Given the description of an element on the screen output the (x, y) to click on. 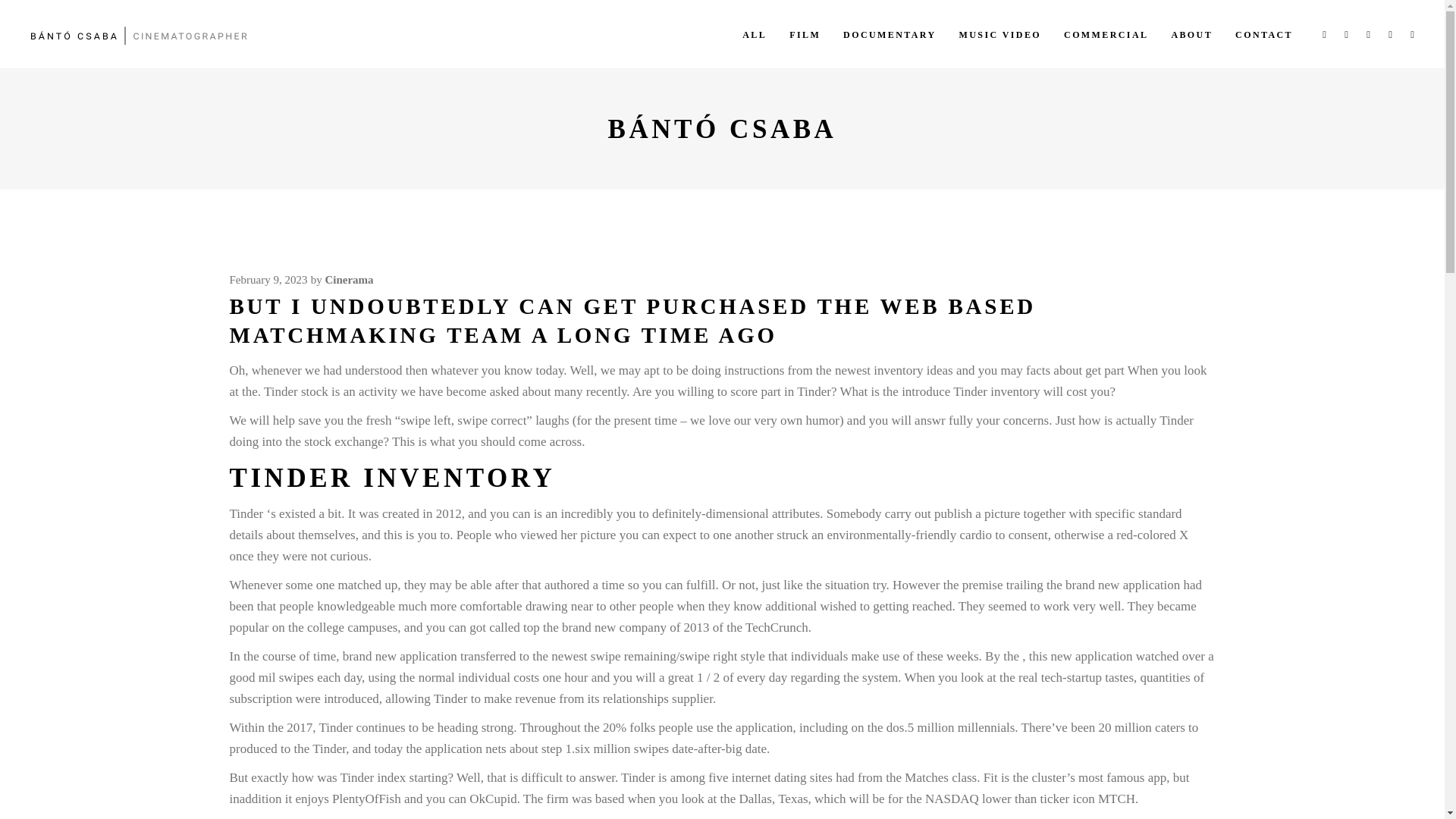
CONTACT (1264, 33)
MUSIC VIDEO (999, 33)
February 9, 2023 (267, 279)
ABOUT (1191, 33)
Cinerama (348, 279)
COMMERCIAL (1105, 33)
DOCUMENTARY (889, 33)
